Given the description of an element on the screen output the (x, y) to click on. 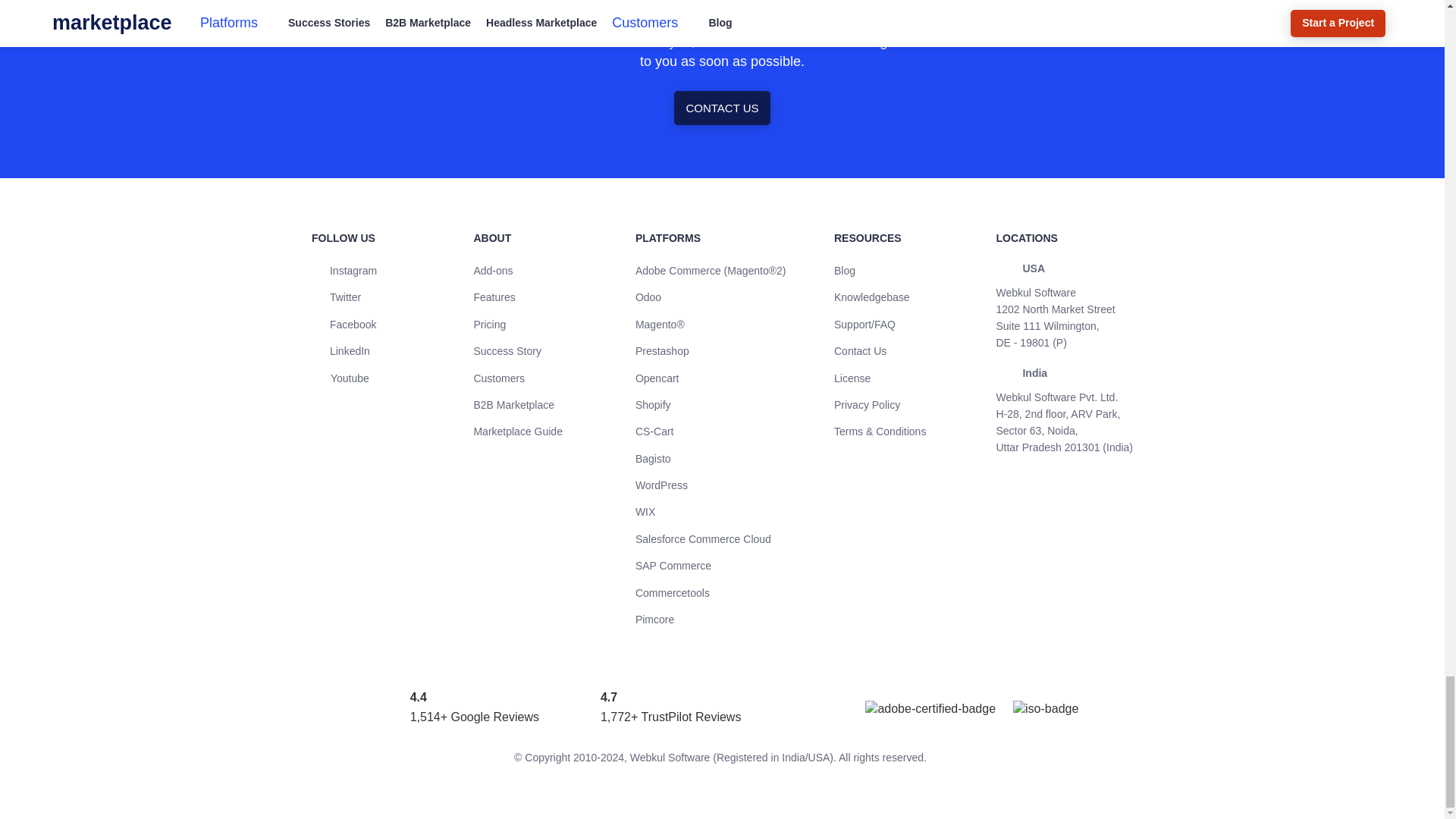
Facebook (343, 324)
LinkedIn (340, 350)
Instagram (344, 270)
Youtube (340, 378)
Twitter (336, 297)
